Given the description of an element on the screen output the (x, y) to click on. 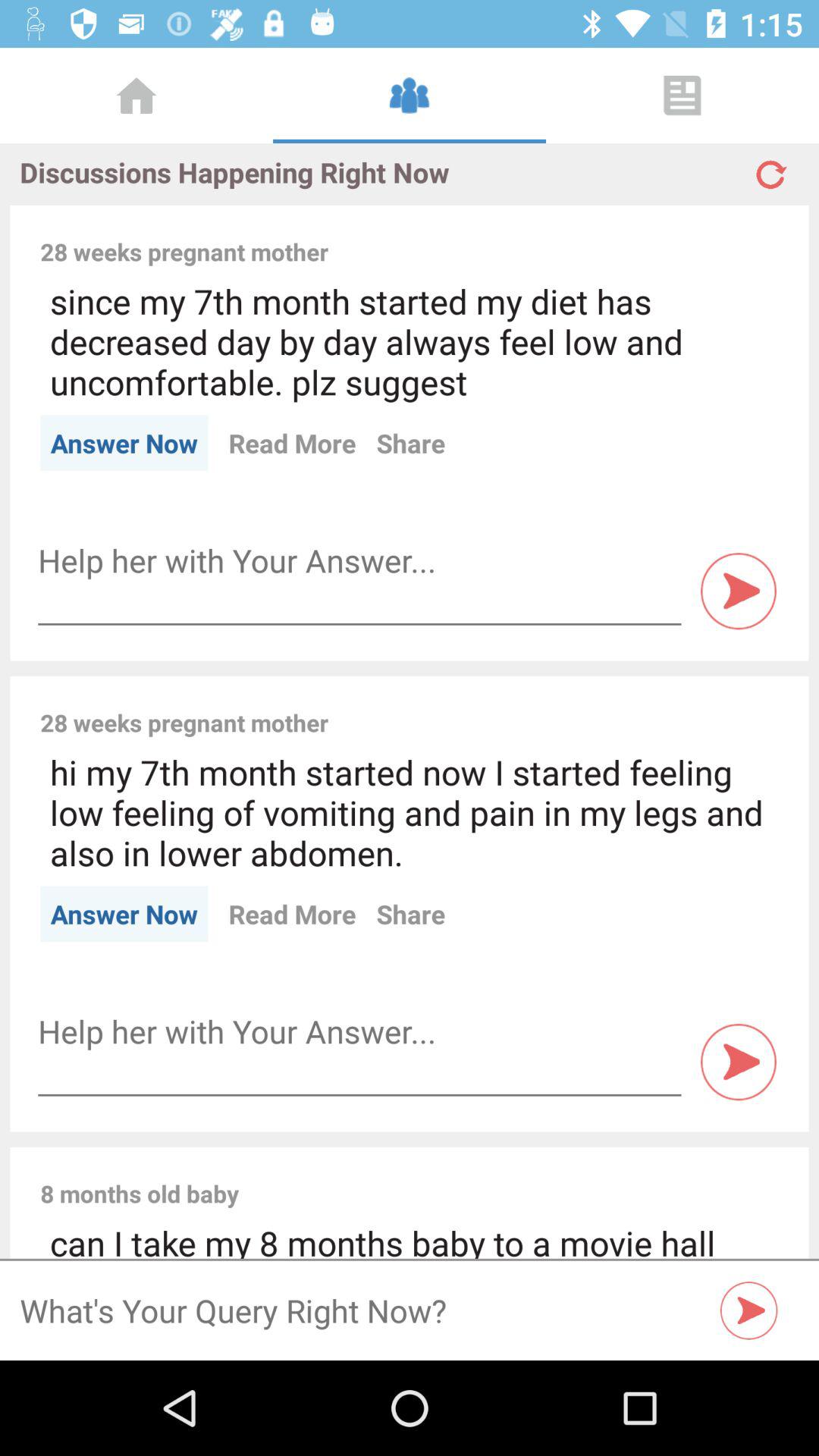
answer discussion prompt (359, 560)
